Given the description of an element on the screen output the (x, y) to click on. 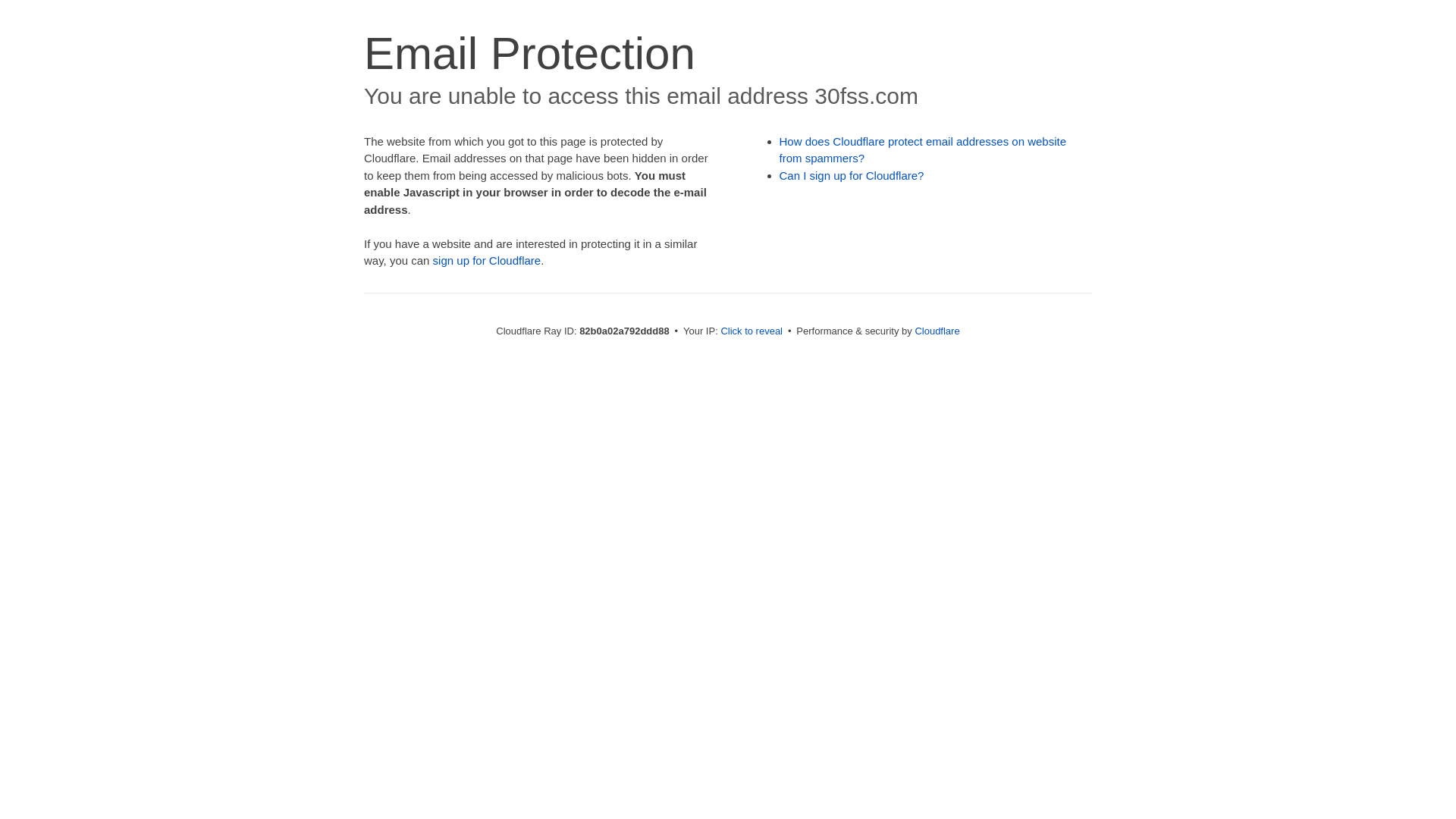
Click to reveal Element type: text (751, 330)
Cloudflare Element type: text (936, 330)
sign up for Cloudflare Element type: text (487, 260)
Can I sign up for Cloudflare? Element type: text (851, 175)
